Given the description of an element on the screen output the (x, y) to click on. 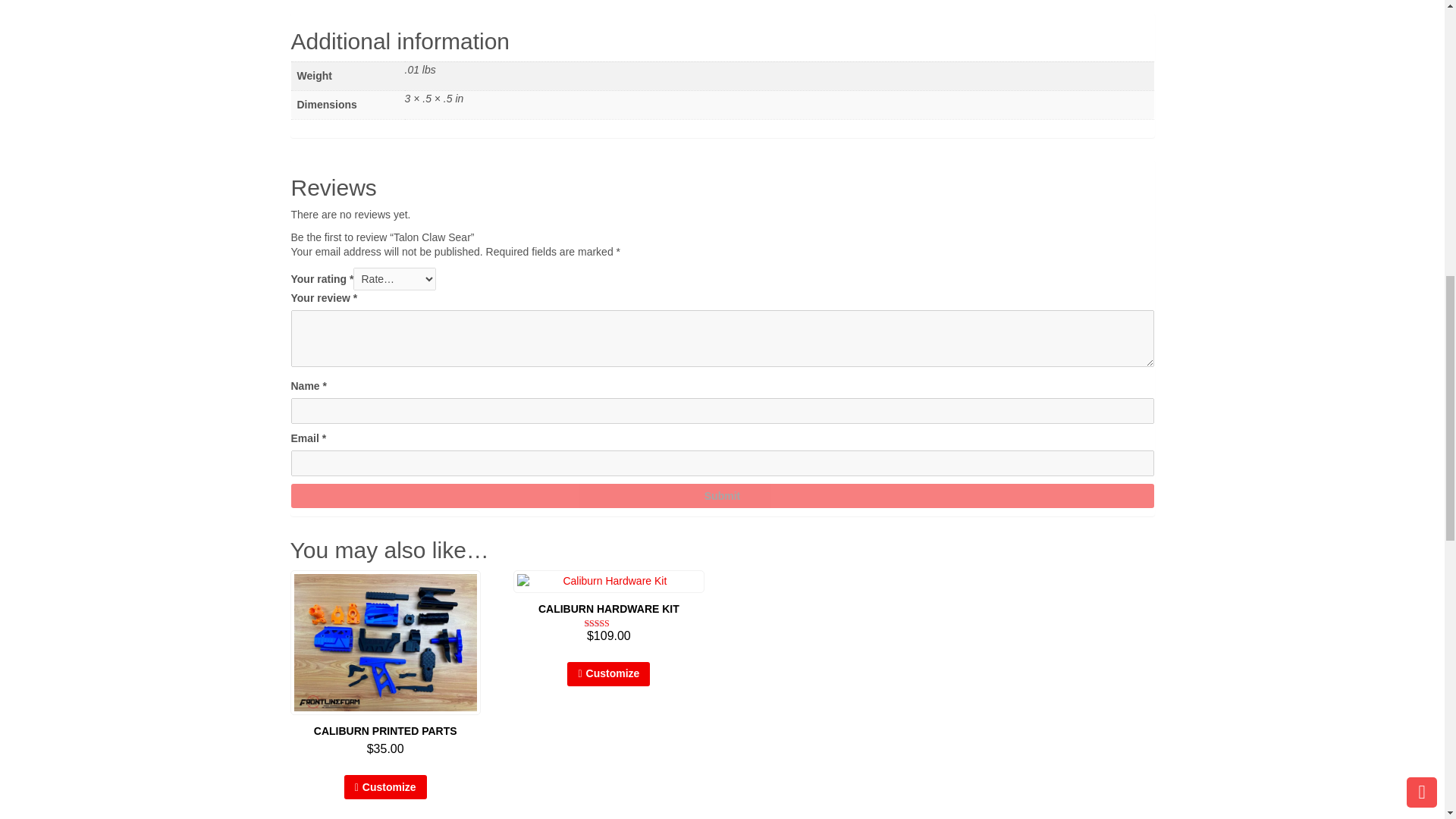
Submit (722, 495)
